Given the description of an element on the screen output the (x, y) to click on. 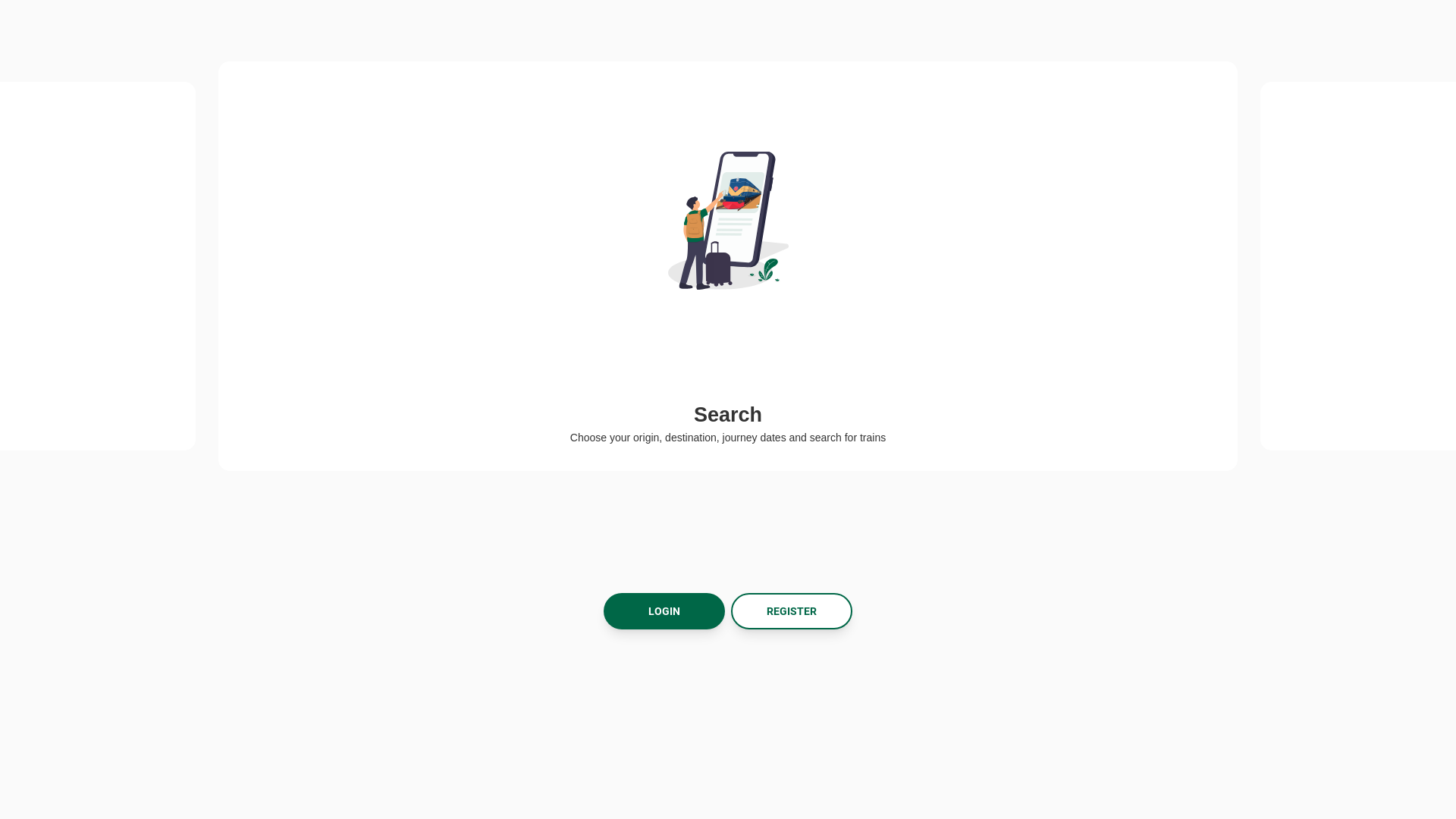
REGISTER Element type: text (791, 611)
LOGIN Element type: text (663, 611)
